Given the description of an element on the screen output the (x, y) to click on. 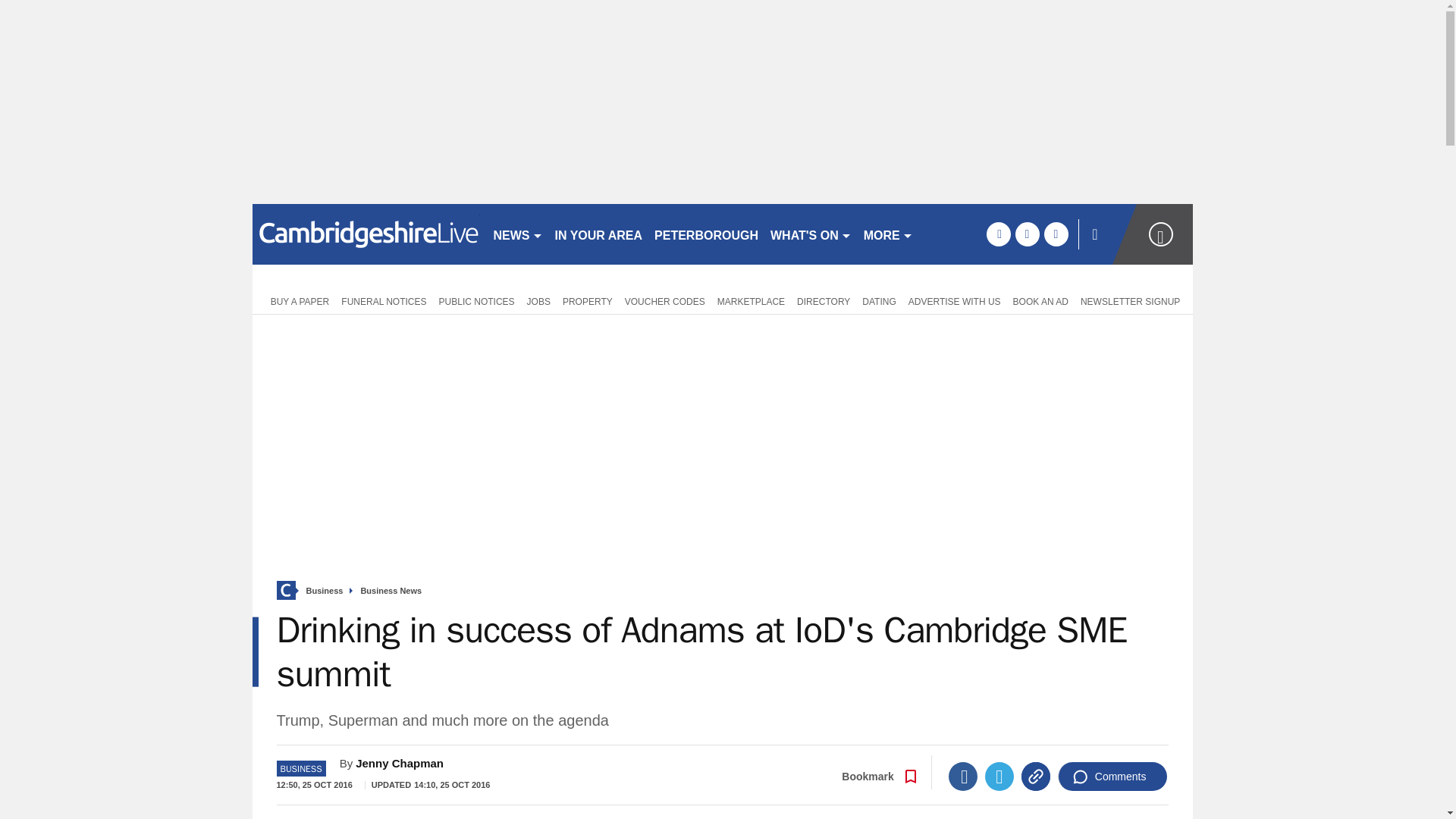
instagram (1055, 233)
PETERBOROUGH (705, 233)
facebook (997, 233)
twitter (1026, 233)
Facebook (962, 776)
IN YOUR AREA (598, 233)
NEWS (517, 233)
Twitter (999, 776)
cambridgenews (365, 233)
Comments (1112, 776)
WHAT'S ON (810, 233)
MORE (887, 233)
